Given the description of an element on the screen output the (x, y) to click on. 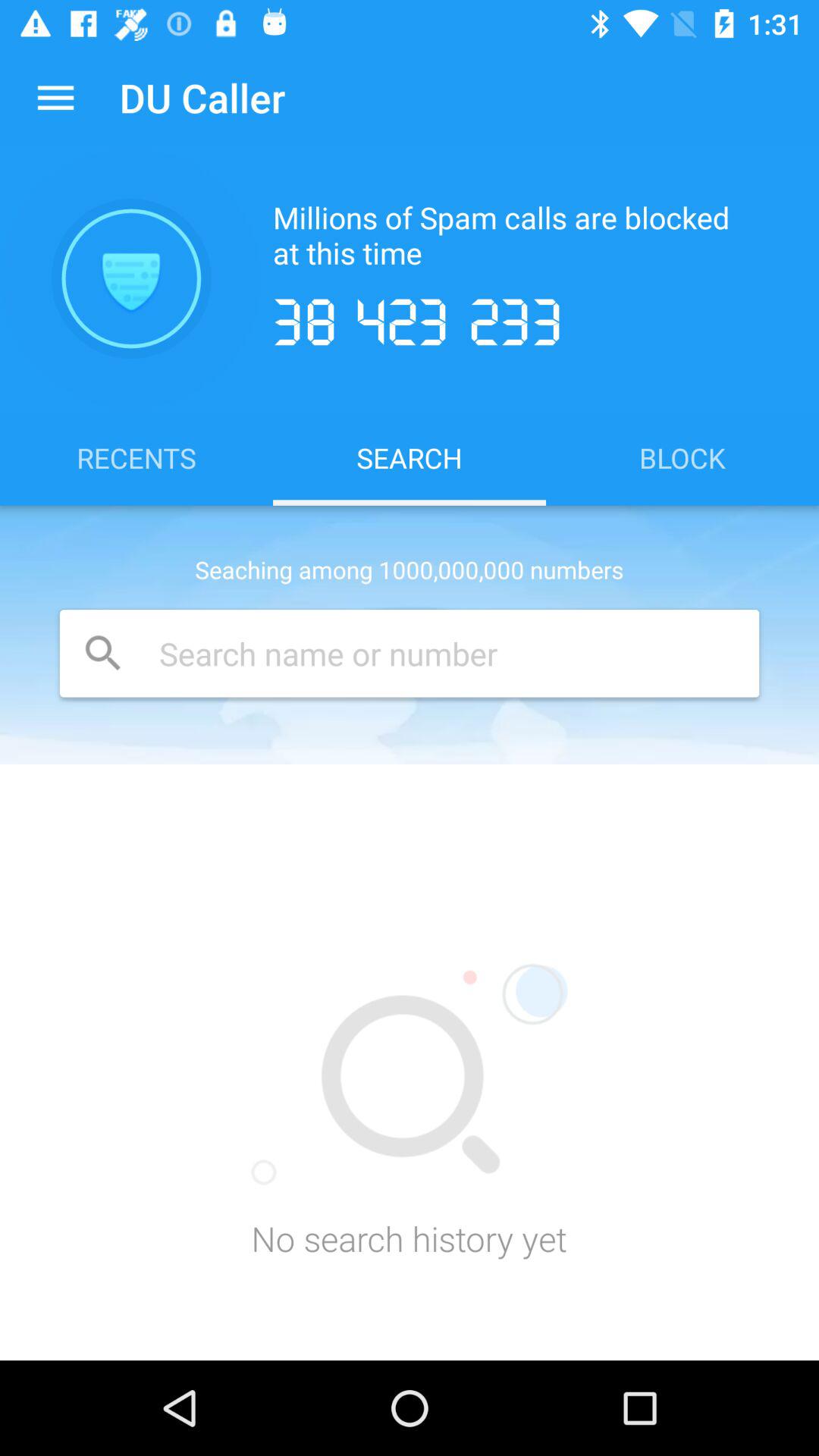
press the recents icon (136, 457)
